Given the description of an element on the screen output the (x, y) to click on. 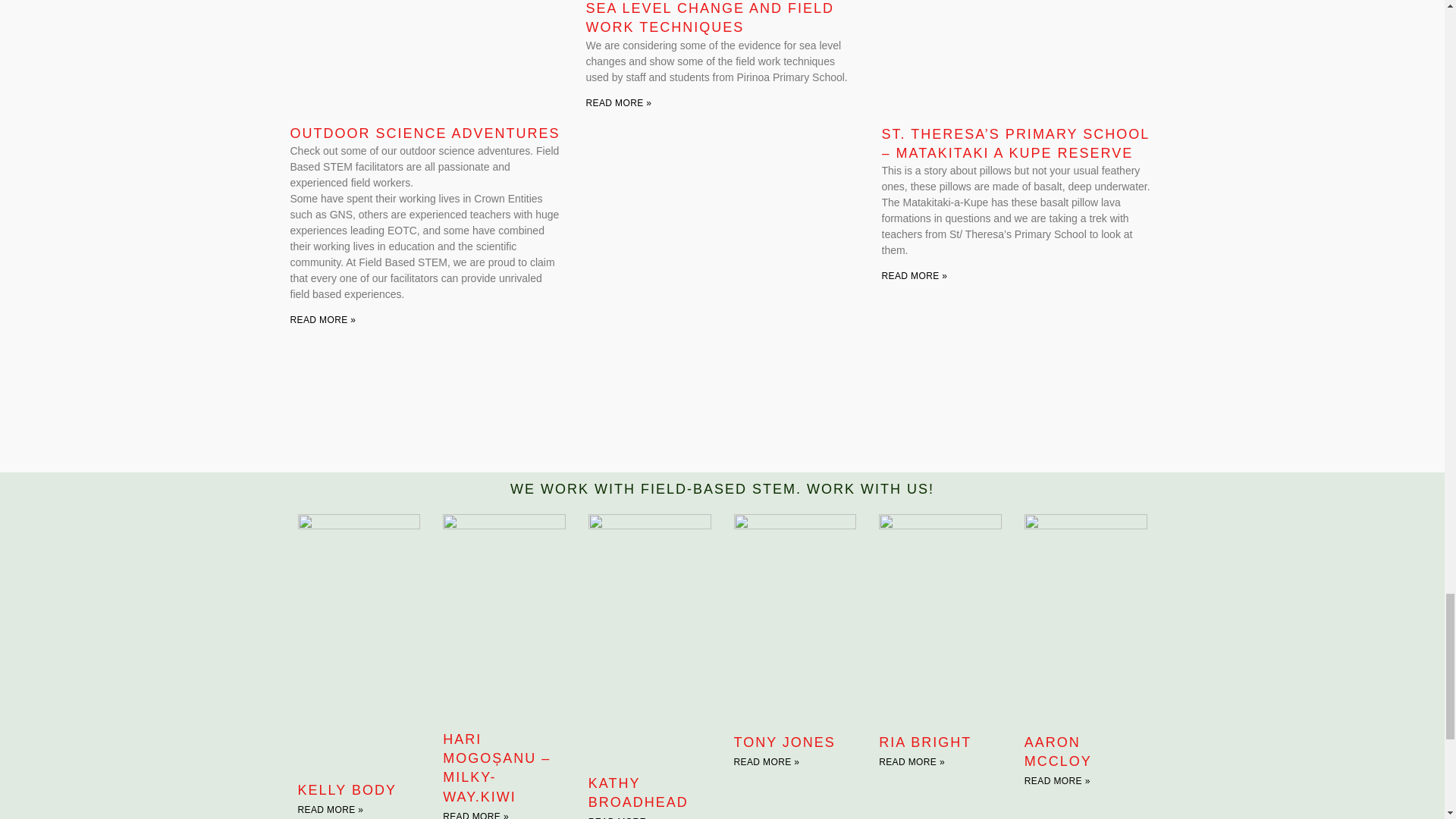
SEA LEVEL CHANGE AND FIELD WORK TECHNIQUES (708, 17)
TONY JONES (784, 742)
KELLY BODY (346, 789)
OUTDOOR SCIENCE ADVENTURES (424, 133)
KATHY BROADHEAD (638, 792)
